Given the description of an element on the screen output the (x, y) to click on. 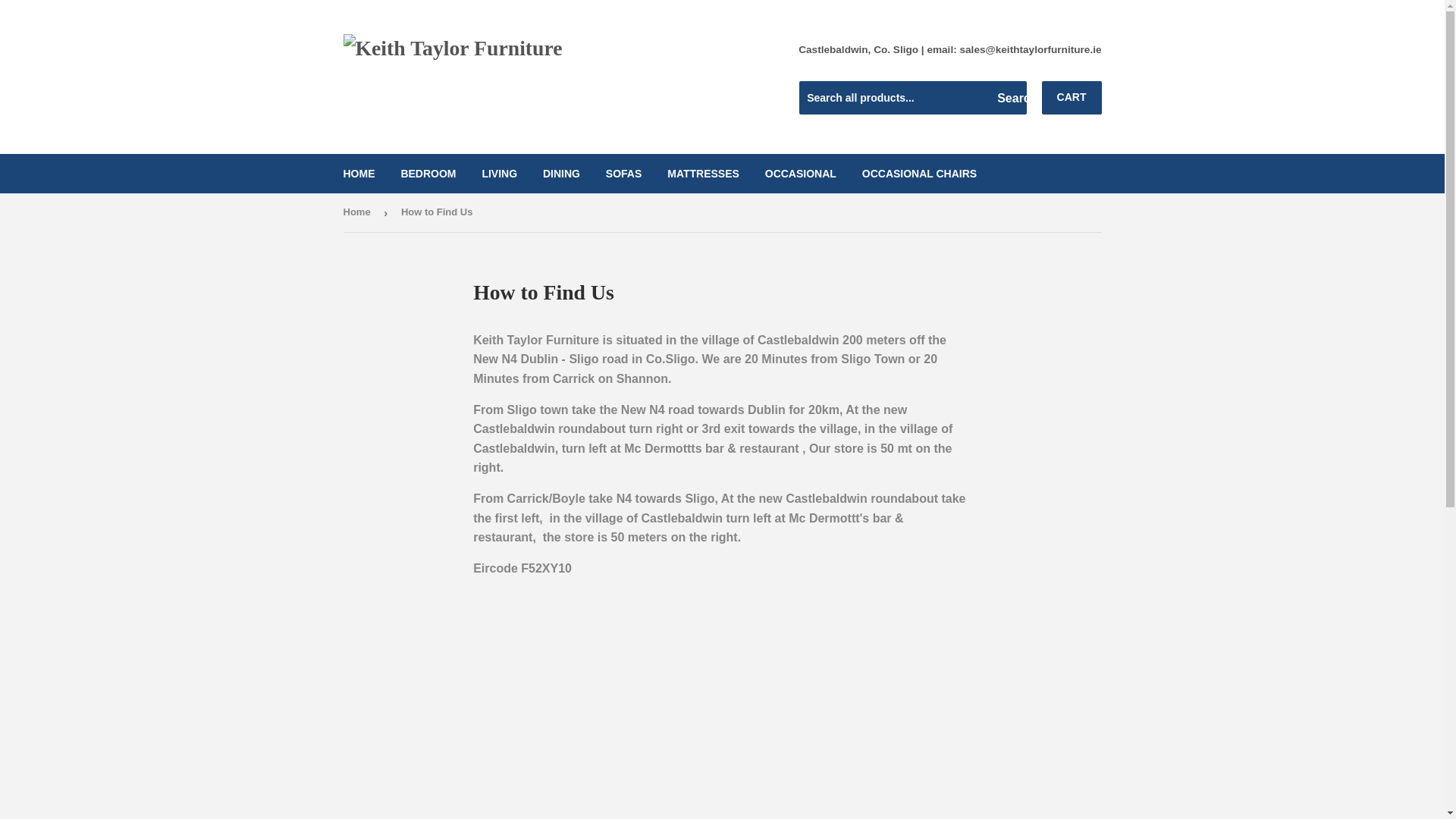
Search (1009, 98)
CART (1072, 97)
